Given the description of an element on the screen output the (x, y) to click on. 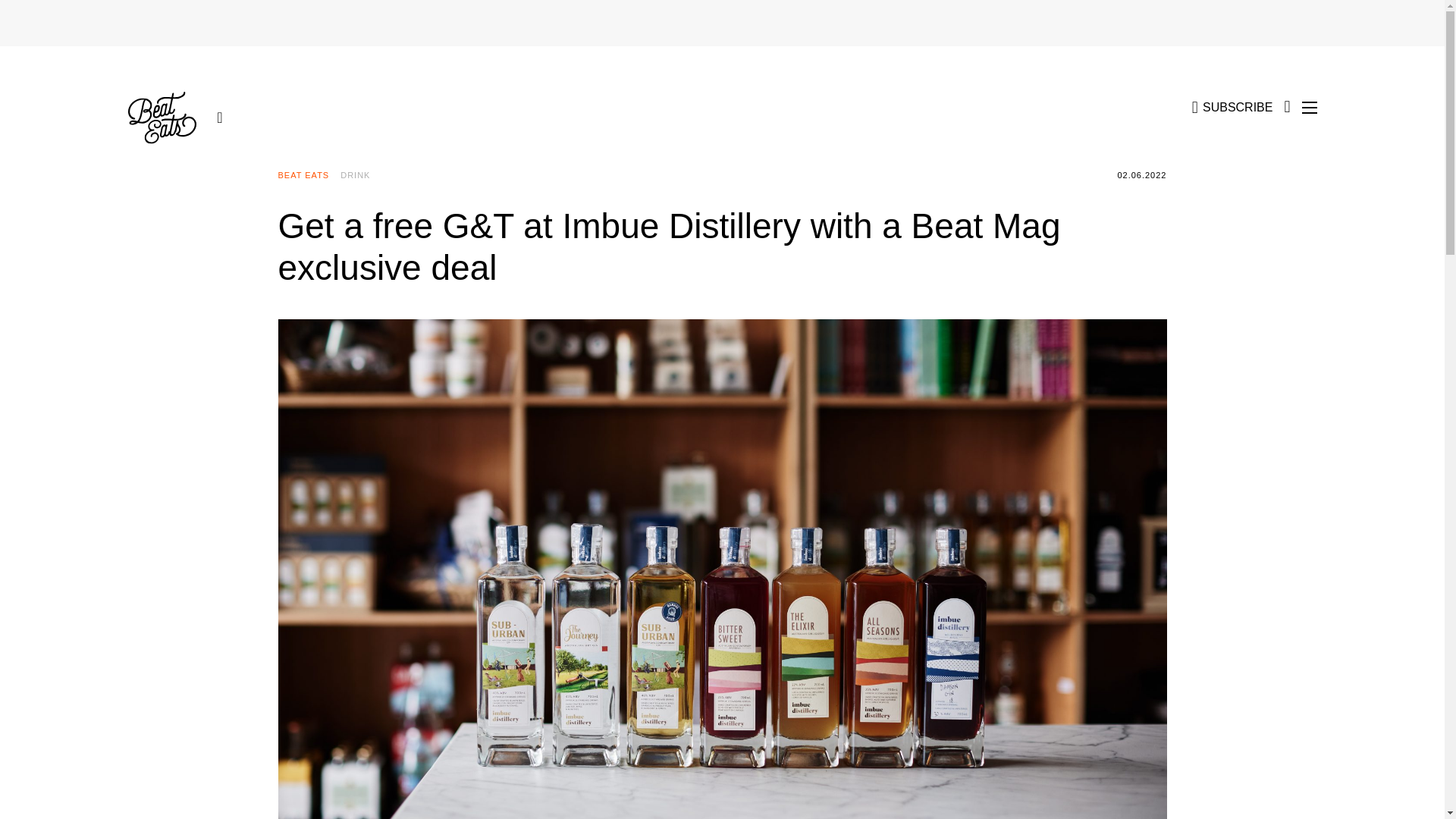
DRINK (360, 175)
BEAT EATS (309, 175)
